Given the description of an element on the screen output the (x, y) to click on. 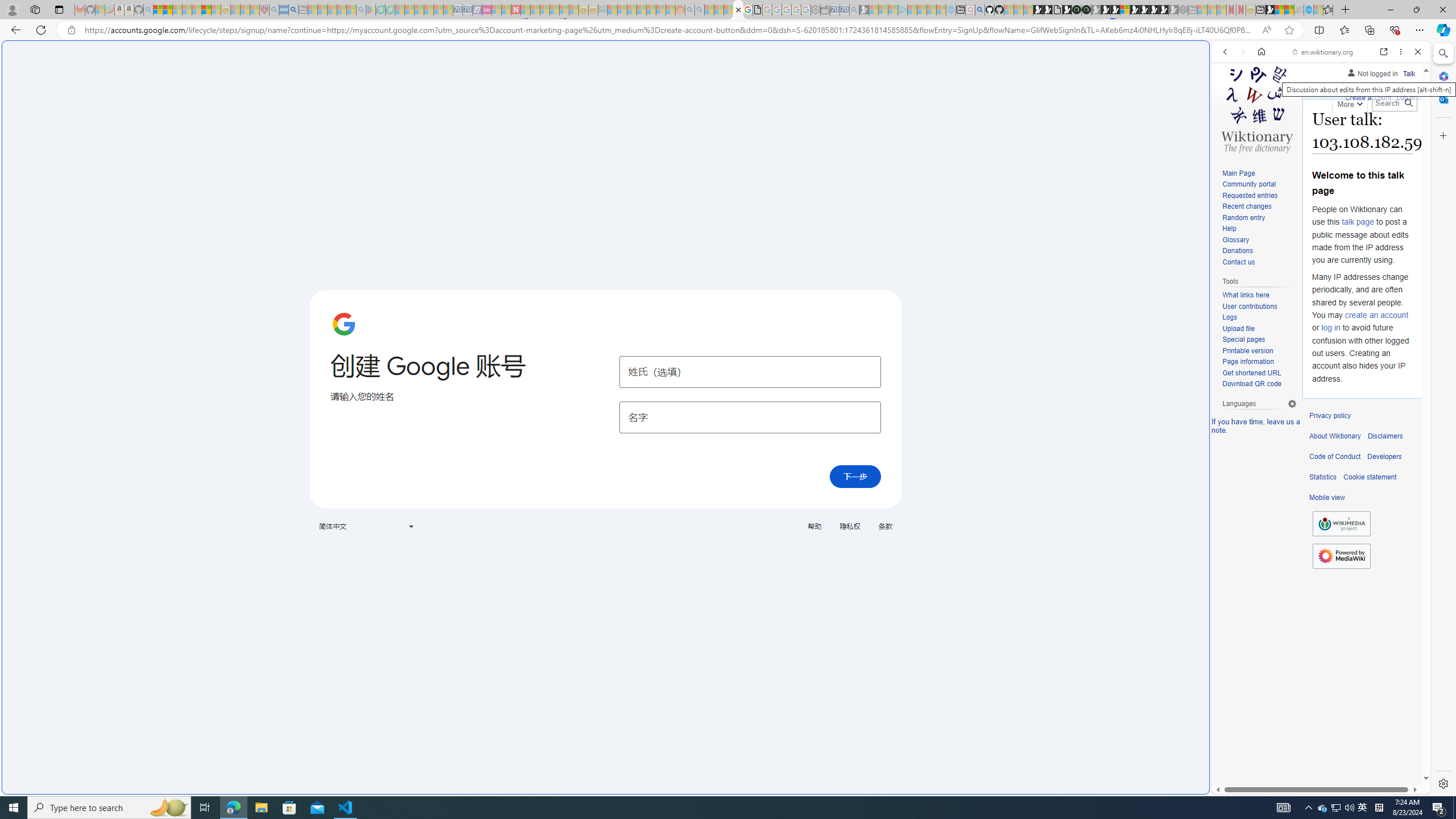
utah sues federal government - Search (922, 389)
What links here (1259, 295)
Contributions (1352, 85)
Printable version (1259, 351)
